Given the description of an element on the screen output the (x, y) to click on. 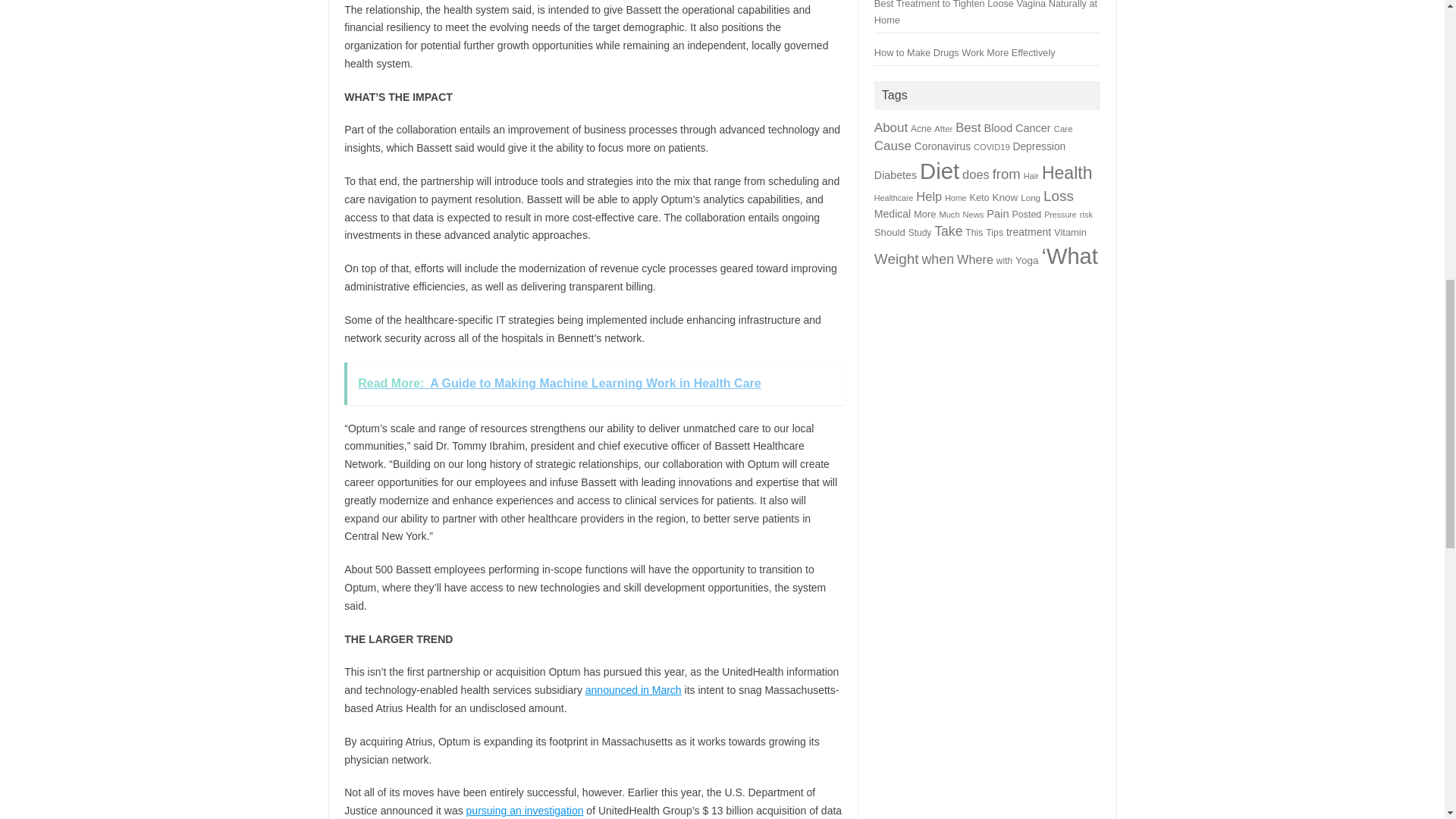
announced in March (633, 689)
pursuing an investigation (524, 810)
